Given the description of an element on the screen output the (x, y) to click on. 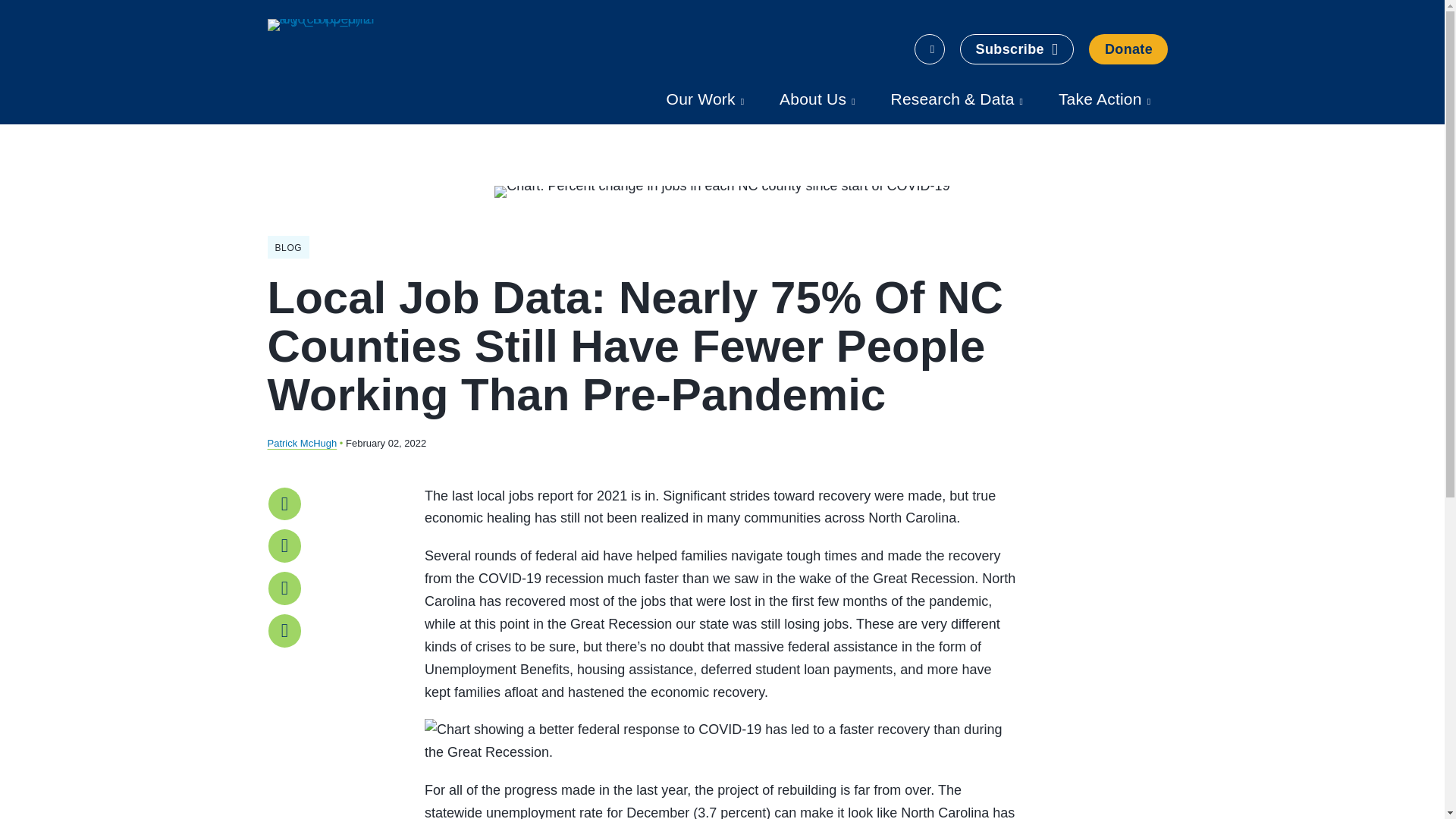
Subscribe (1016, 49)
Patrick McHugh (301, 442)
Donate (1129, 49)
About Us (817, 98)
Search (929, 49)
Our Work (705, 98)
Take Action (1104, 98)
